Given the description of an element on the screen output the (x, y) to click on. 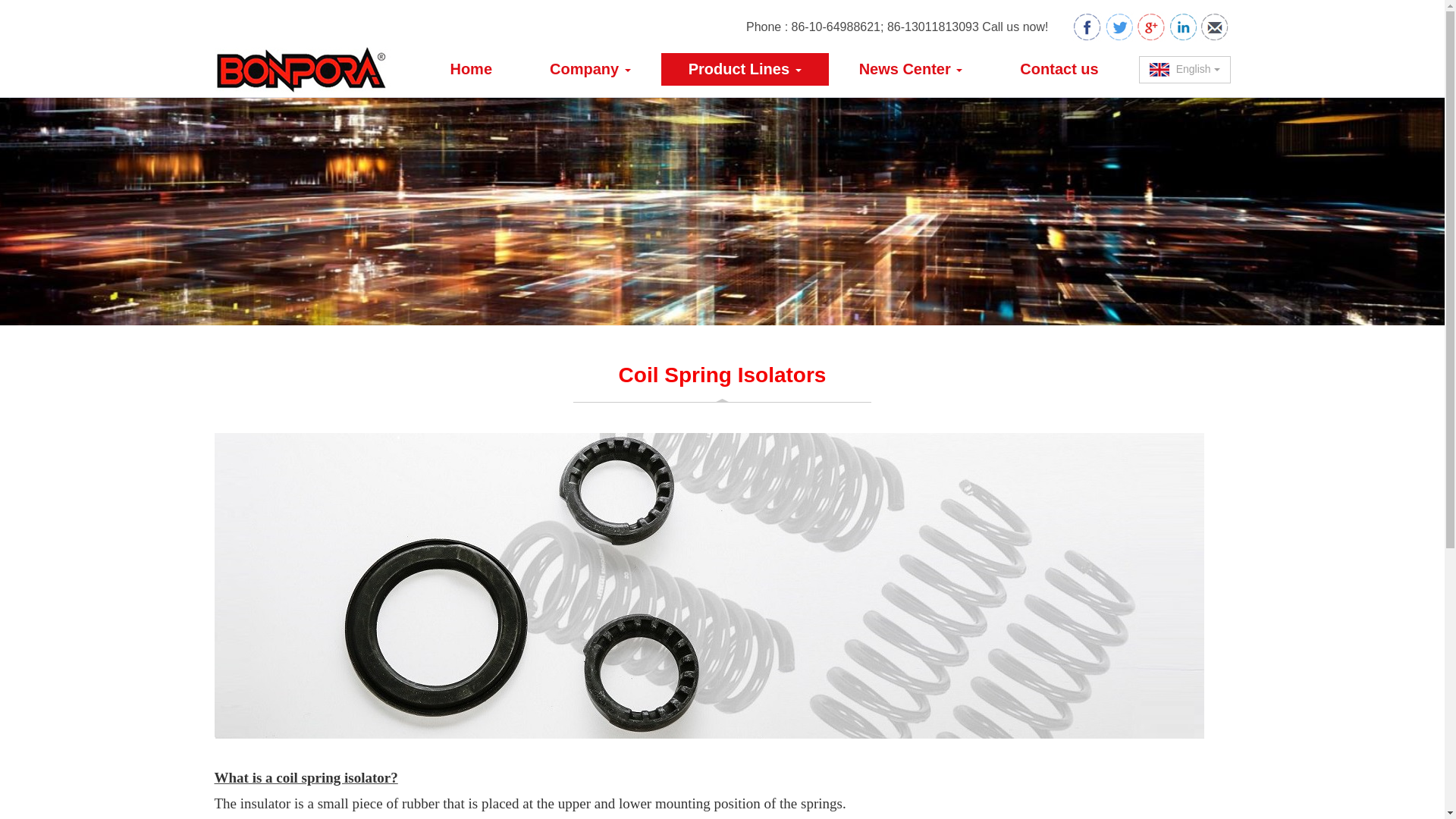
Company (590, 69)
Company (590, 69)
News Center (910, 69)
Product Lines (744, 69)
English (1185, 69)
News Center (910, 69)
Contact us (1058, 69)
Home (470, 69)
Product Lines (744, 69)
